Given the description of an element on the screen output the (x, y) to click on. 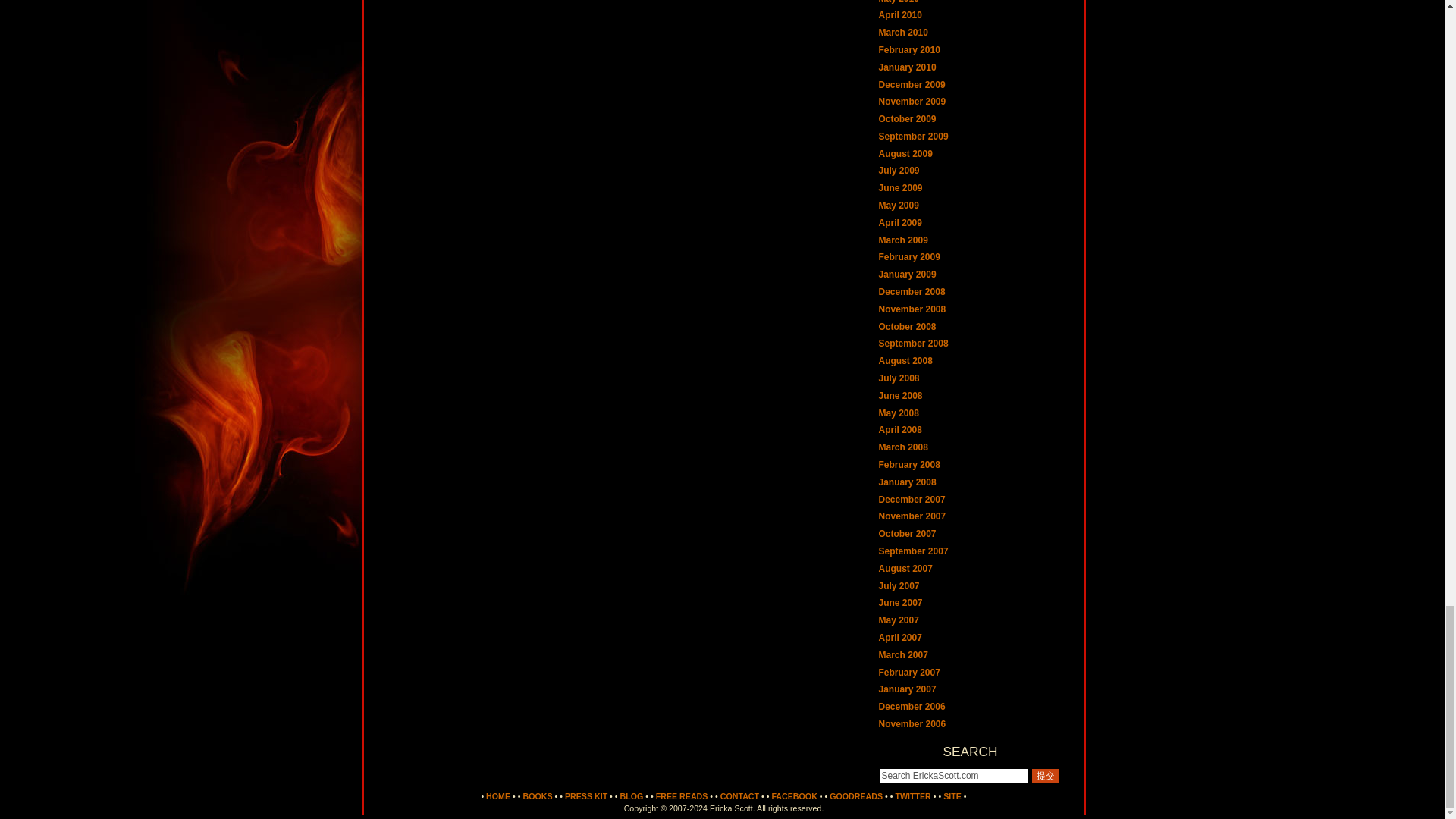
Search ErickaScott.com (953, 775)
